Given the description of an element on the screen output the (x, y) to click on. 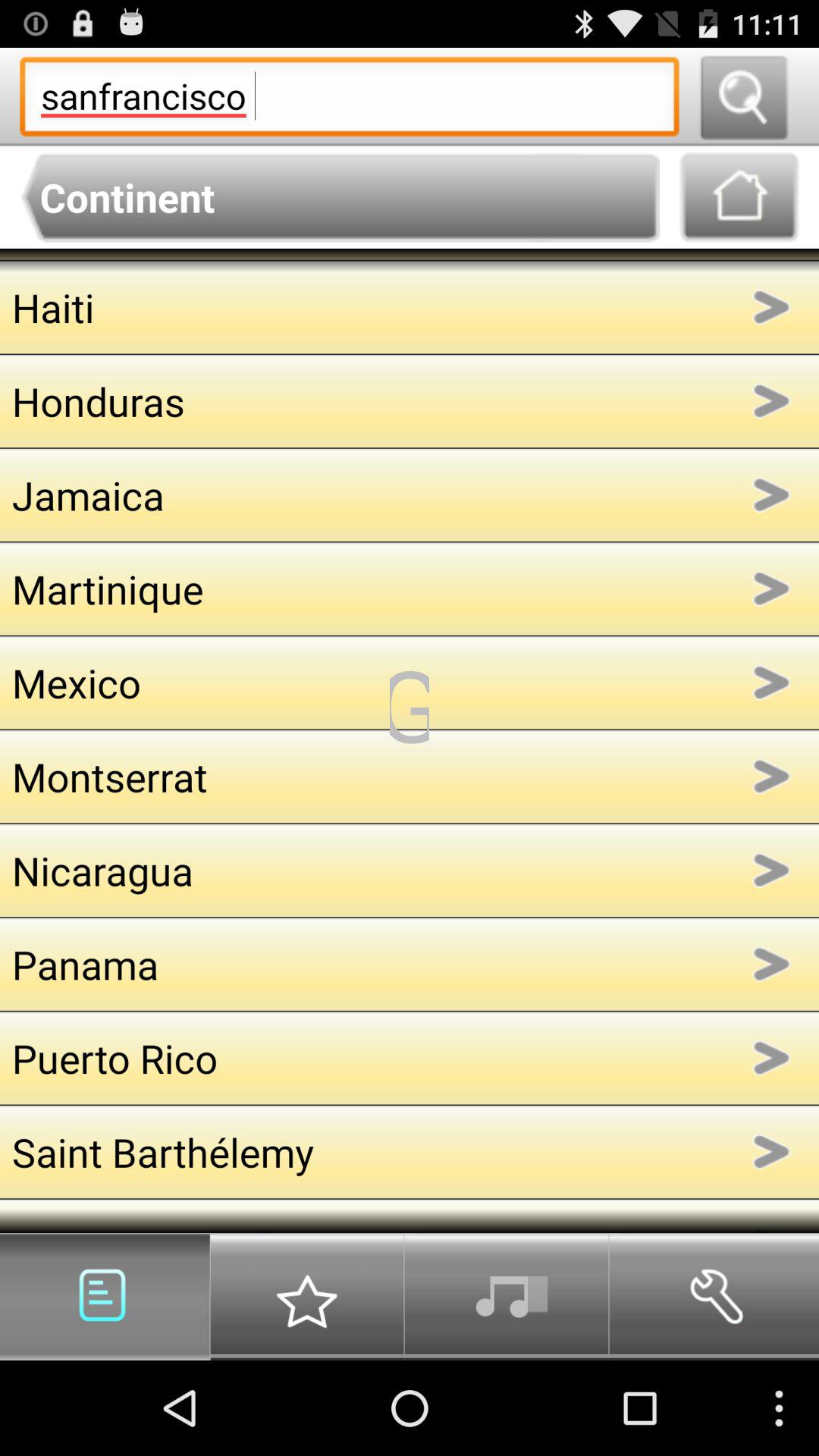
search the term s (743, 96)
